Given the description of an element on the screen output the (x, y) to click on. 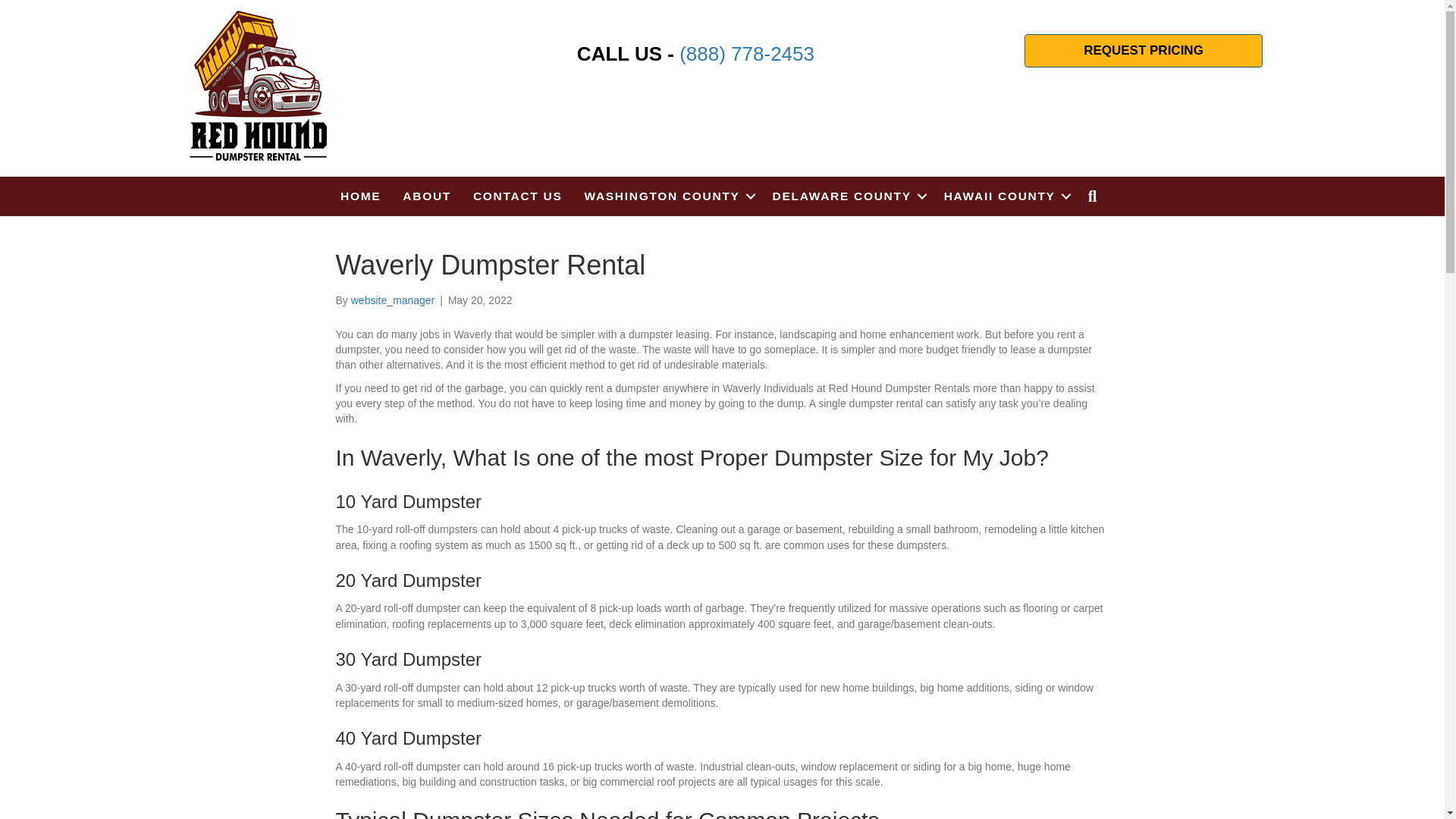
redhounddumpster (258, 86)
CONTACT US (517, 196)
DELAWARE COUNTY (847, 196)
WASHINGTON COUNTY (666, 196)
SEARCH (1096, 195)
HOME (360, 196)
ABOUT (426, 196)
REQUEST PRICING (1144, 50)
HAWAII COUNTY (1005, 196)
